Given the description of an element on the screen output the (x, y) to click on. 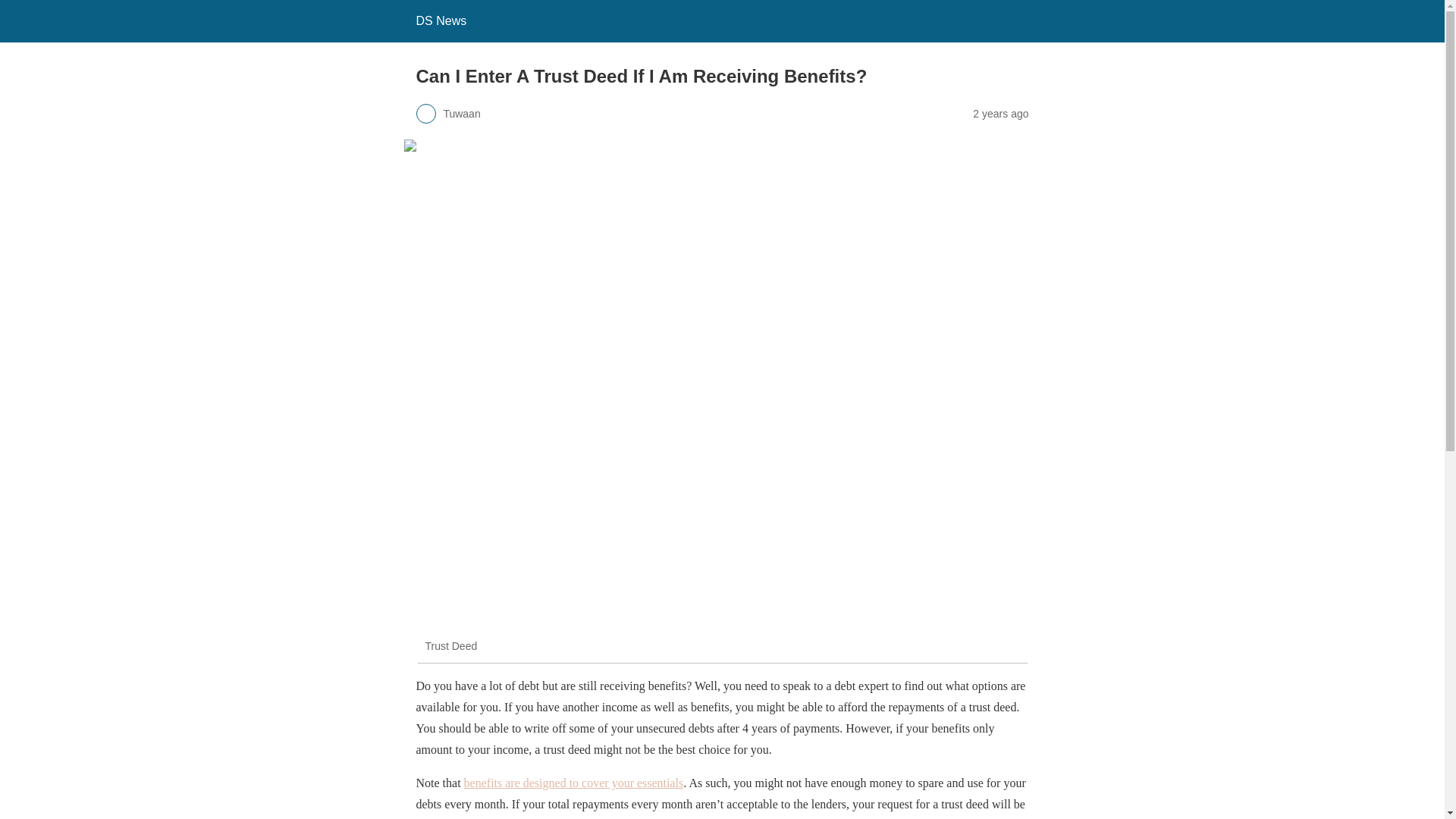
benefits are designed to cover your essentials (574, 782)
DS News (439, 20)
